Given the description of an element on the screen output the (x, y) to click on. 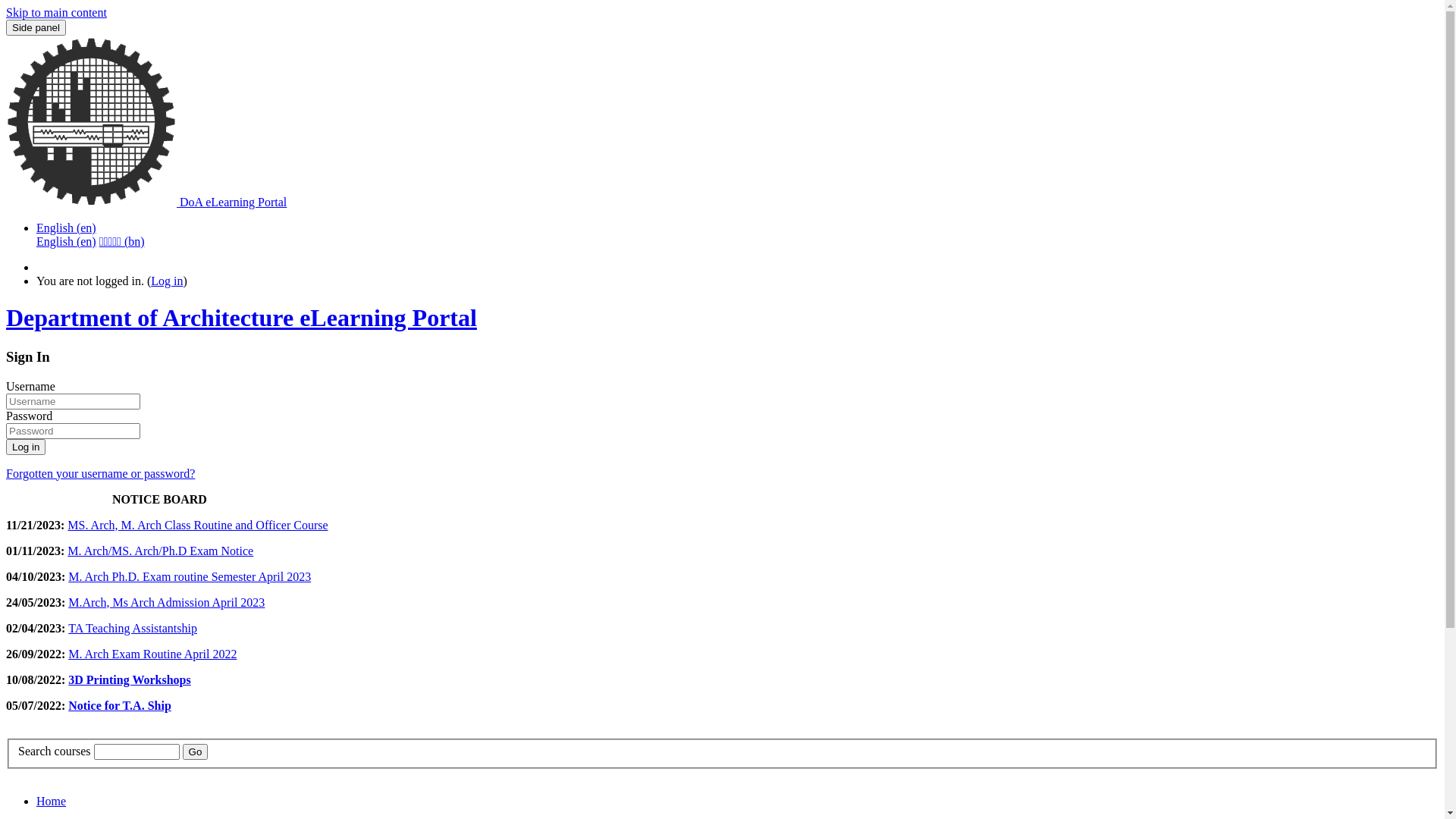
English (en) Element type: text (66, 241)
Forgotten your username or password? Element type: text (100, 473)
3D Printing Workshops Element type: text (129, 679)
Go Element type: text (195, 751)
Side panel Element type: text (35, 27)
Department of Architecture eLearning Portal Element type: text (722, 318)
Skip to main content Element type: text (56, 12)
M. Arch Exam Routine April 2022 Element type: text (152, 653)
Log in Element type: text (166, 280)
M. Arch/MS. Arch/Ph.D Exam Notice Element type: text (160, 550)
DoA eLearning Portal Element type: text (146, 201)
Teaching Assistantship Element type: text (141, 627)
Home Element type: text (737, 801)
MS. Arch, M. Arch Class Routine and Officer Course Element type: text (197, 524)
English (en) Element type: text (66, 227)
M.Arch, Ms Arch Admission April 2023 Element type: text (166, 602)
M. Arch Ph.D. Exam routine Semester April 2023 Element type: text (189, 576)
TA  Element type: text (76, 627)
Log in Element type: text (25, 447)
Notice for T.A. Ship Element type: text (119, 705)
